Given the description of an element on the screen output the (x, y) to click on. 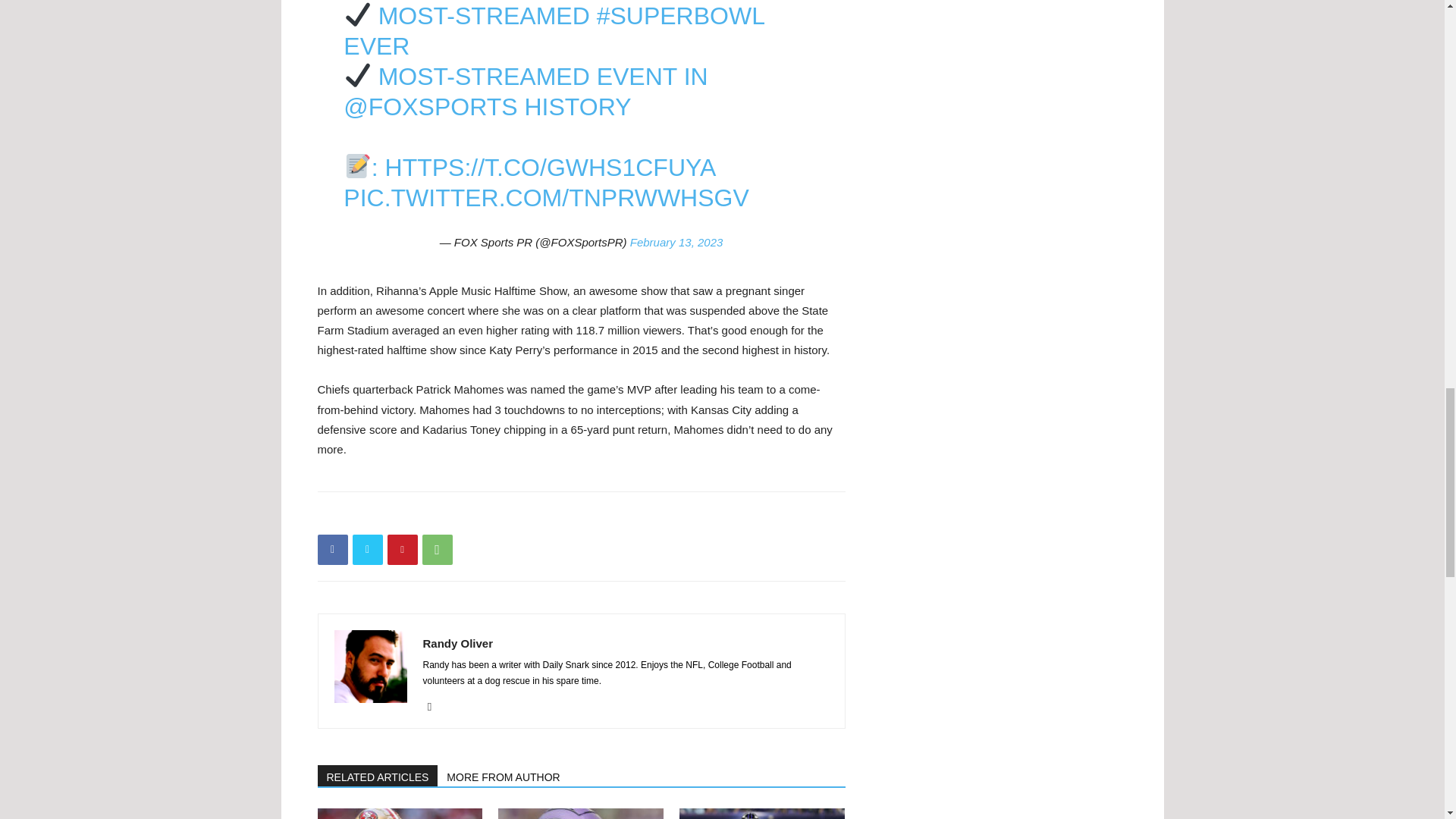
February 13, 2023 (676, 241)
bottomFacebookLike (430, 515)
Facebook (332, 549)
